Given the description of an element on the screen output the (x, y) to click on. 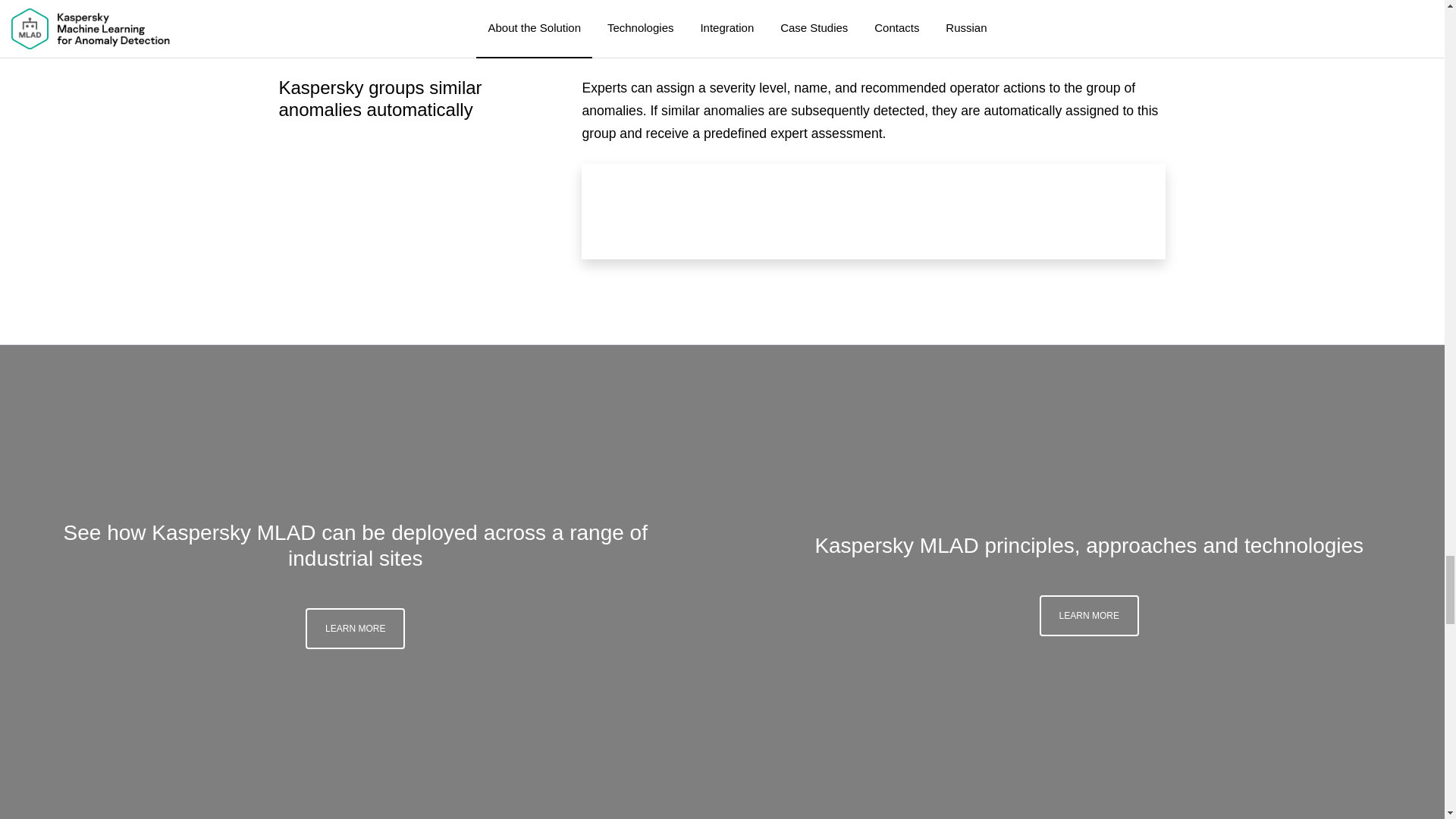
LEARN MORE (354, 230)
LEARN MORE (1088, 218)
